Given the description of an element on the screen output the (x, y) to click on. 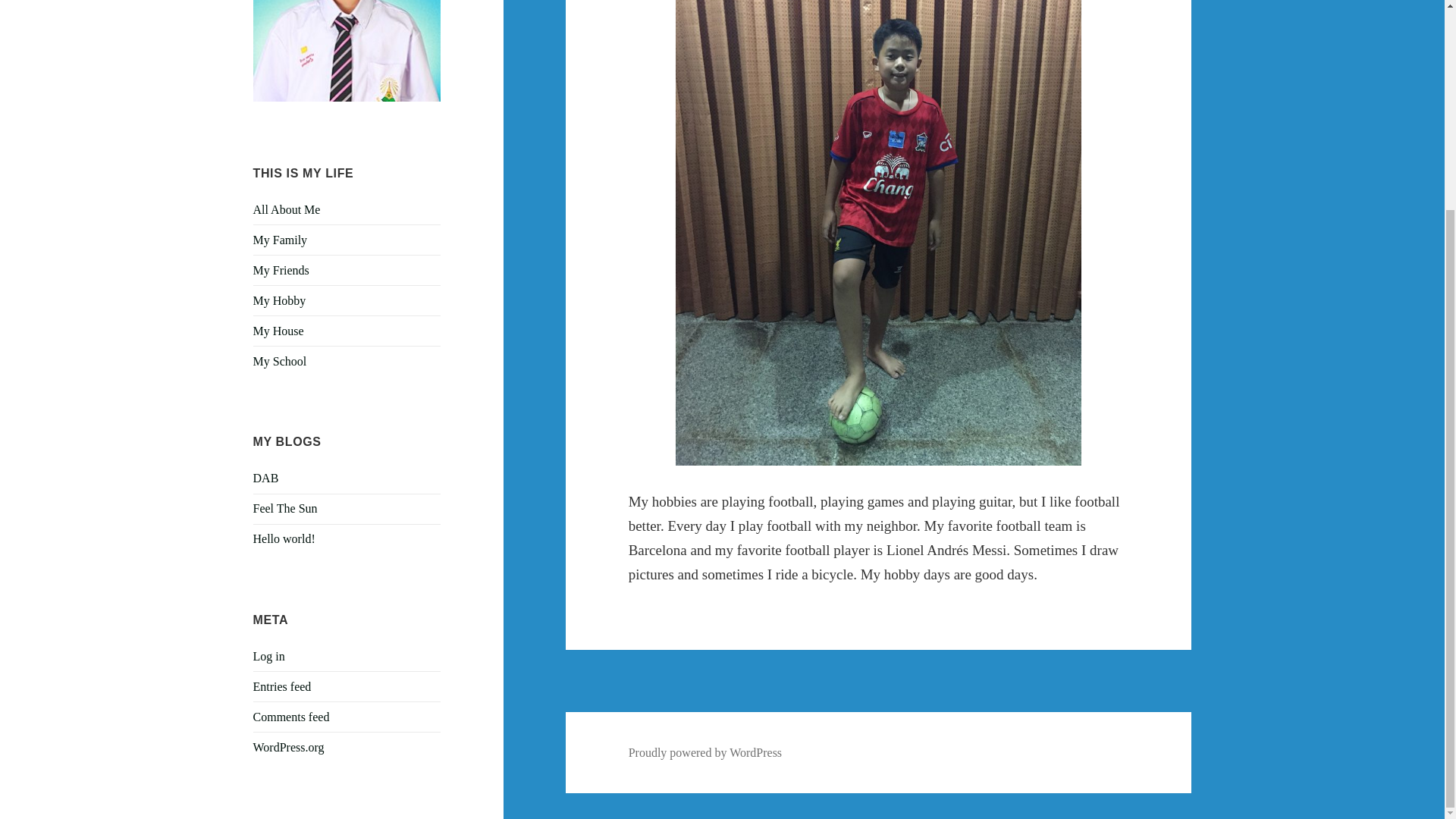
DAB (266, 477)
Comments feed (291, 716)
My Hobby (279, 300)
Entries feed (282, 686)
My Friends (280, 269)
Proudly powered by WordPress (704, 753)
Log in (269, 656)
My School (280, 360)
My House (278, 330)
All About Me (286, 209)
